Given the description of an element on the screen output the (x, y) to click on. 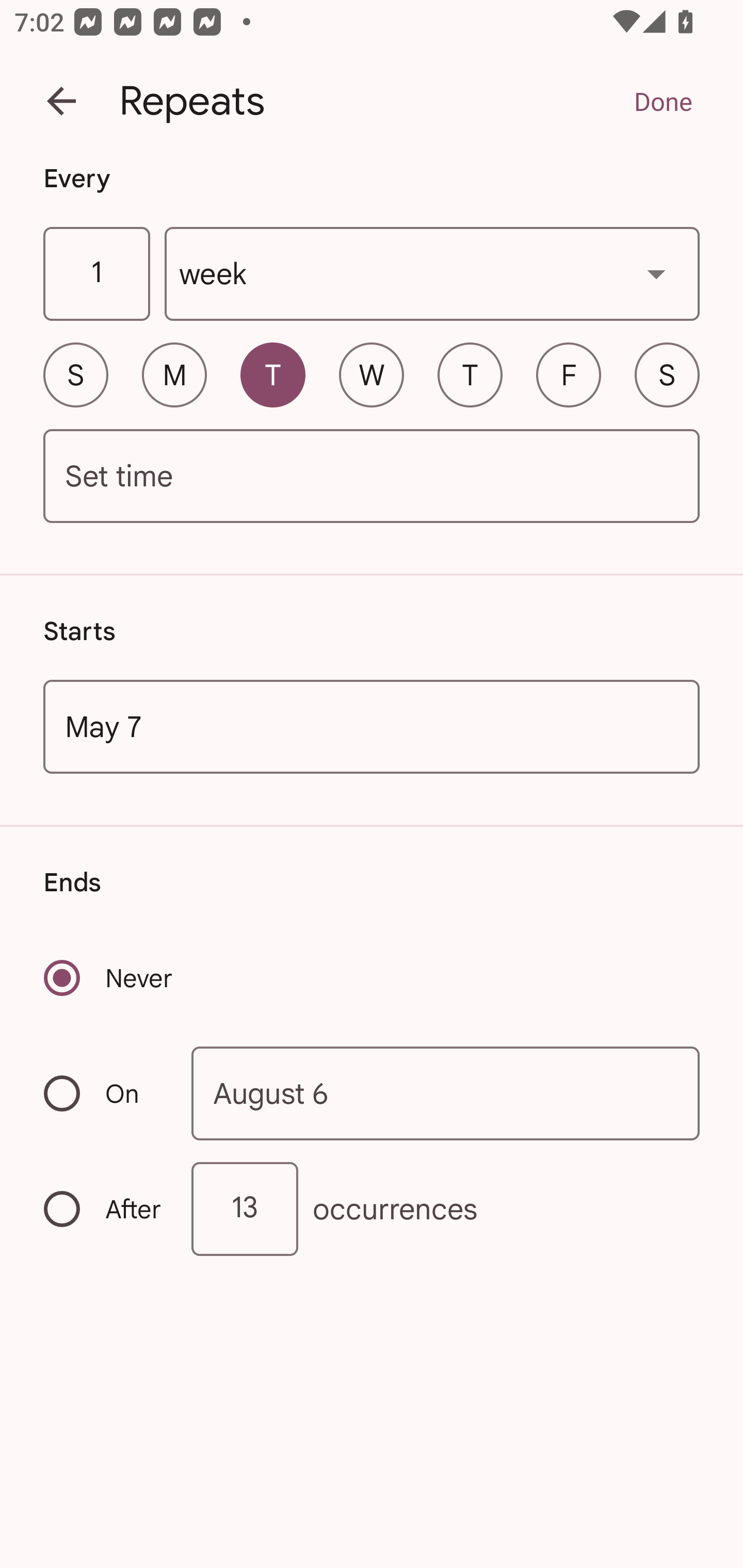
Back (61, 101)
Done (663, 101)
1 (96, 274)
week (431, 274)
Show dropdown menu (655, 273)
S Sunday (75, 374)
M Monday (173, 374)
T Tuesday, selected (272, 374)
W Wednesday (371, 374)
T Thursday (469, 374)
F Friday (568, 374)
S Saturday (666, 374)
Set time (371, 476)
May 7 (371, 726)
Never Recurrence never ends (109, 978)
August 6 (445, 1092)
On Recurrence ends on a specific date (104, 1093)
13 (244, 1208)
